Given the description of an element on the screen output the (x, y) to click on. 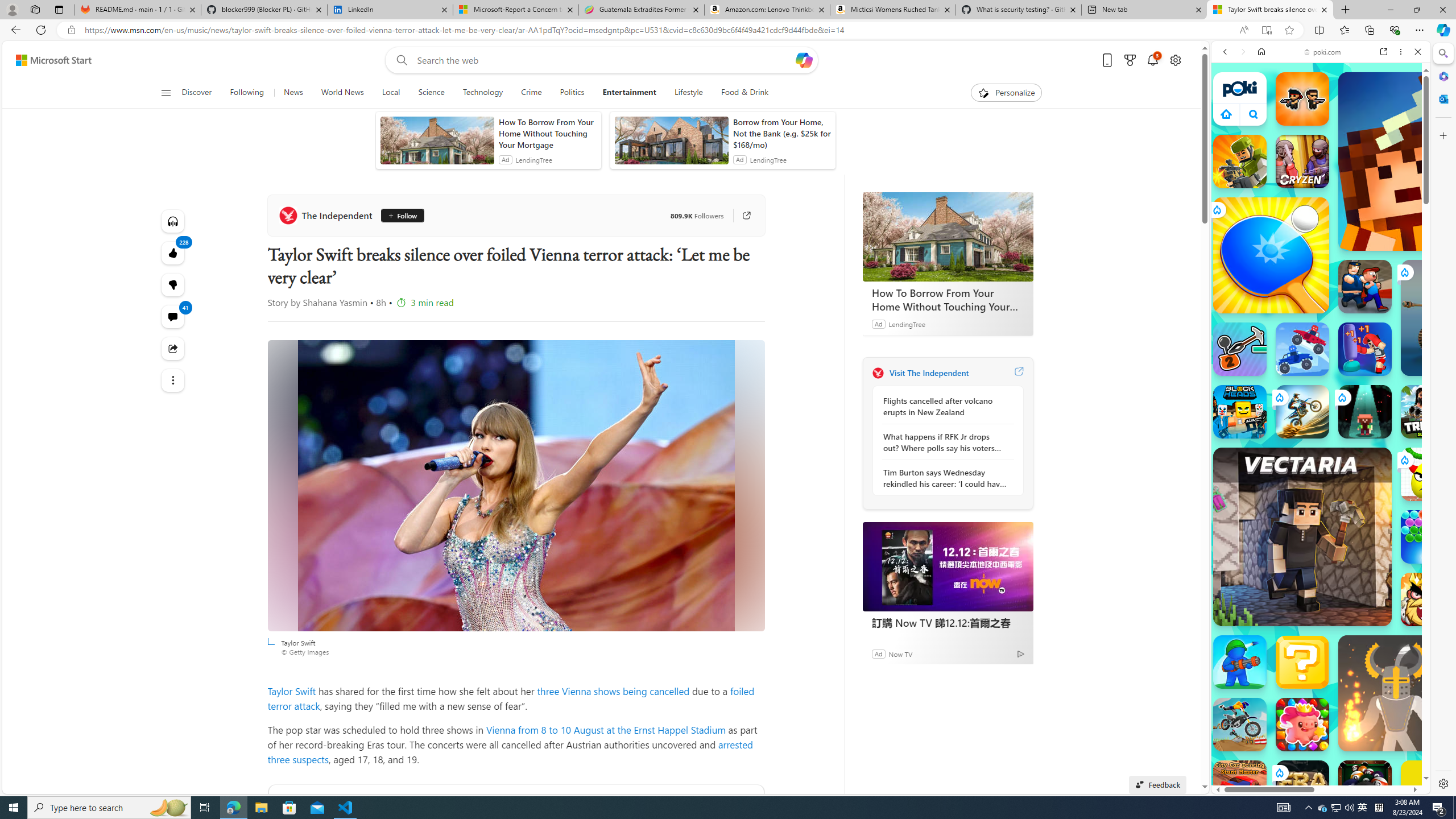
Zombie Rush (1302, 98)
Stickman Climb 2 Stickman Climb 2 (1239, 348)
Share this story (172, 348)
